Given the description of an element on the screen output the (x, y) to click on. 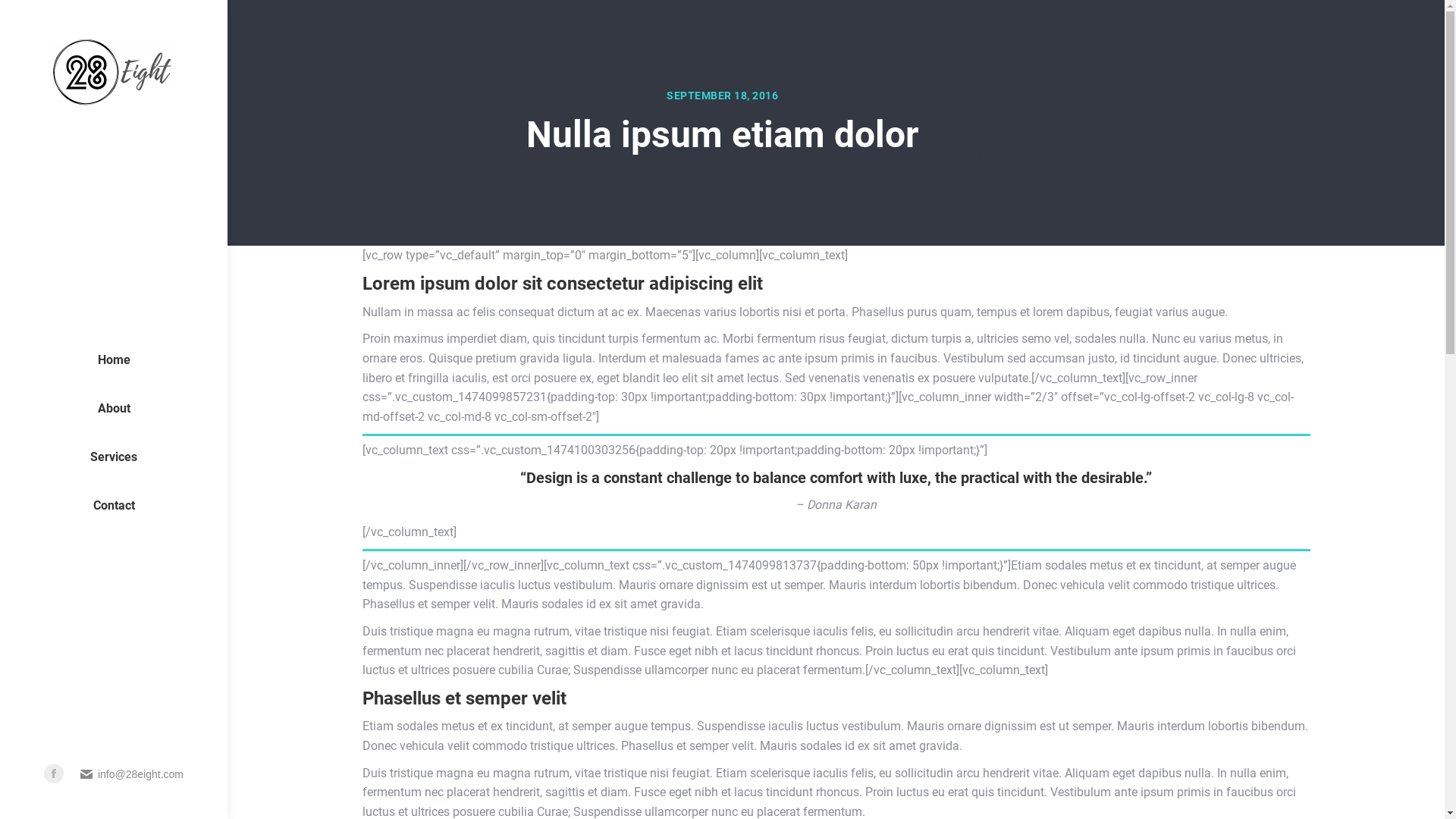
Contact Element type: text (113, 505)
Facebook page opens in new window Element type: hover (53, 773)
Services Element type: text (113, 456)
About Element type: text (113, 408)
Home Element type: text (113, 359)
